Given the description of an element on the screen output the (x, y) to click on. 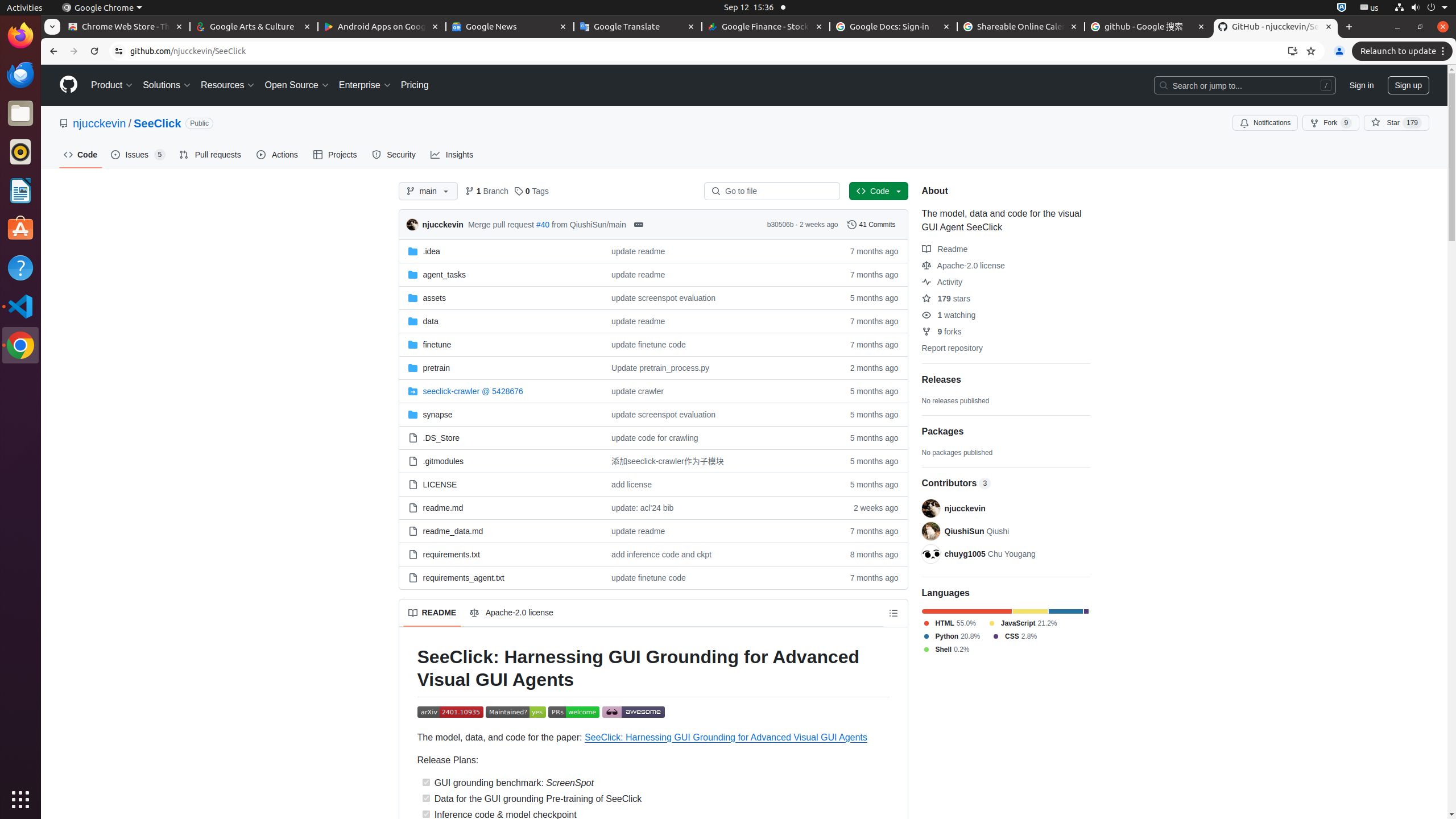
Google News - Memory usage - 48.8 MB Element type: page-tab (509, 26)
#40 Element type: link (542, 224)
requirements.txt, (File) Element type: link (451, 554)
main branch Element type: push-button (427, 191)
seeclick-crawler, (Submodule) Element type: table-cell (500, 390)
